Given the description of an element on the screen output the (x, y) to click on. 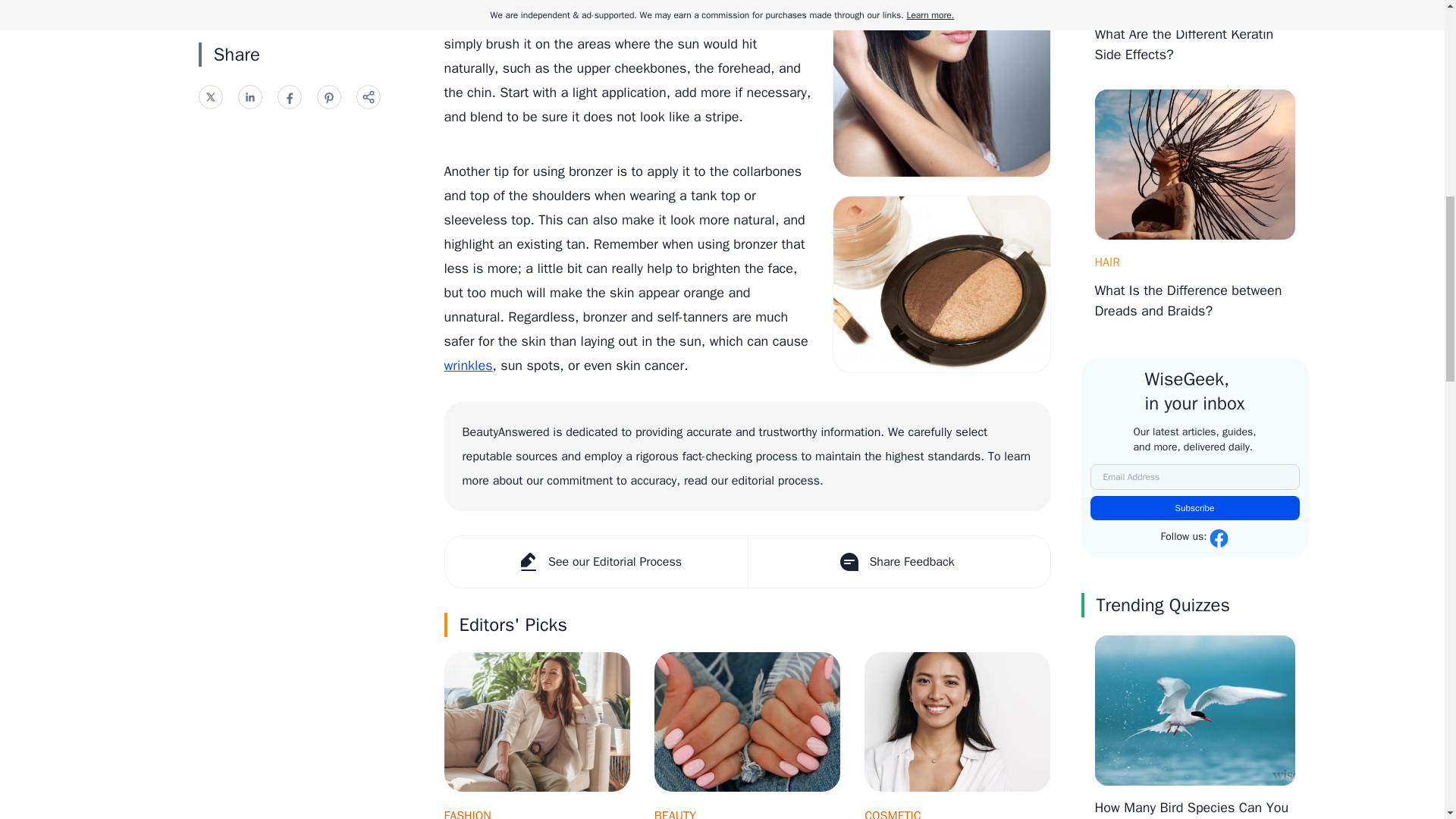
makeup sponge (713, 2)
wrinkles (468, 365)
Share Feedback (898, 562)
See our Editorial Process (595, 562)
